Given the description of an element on the screen output the (x, y) to click on. 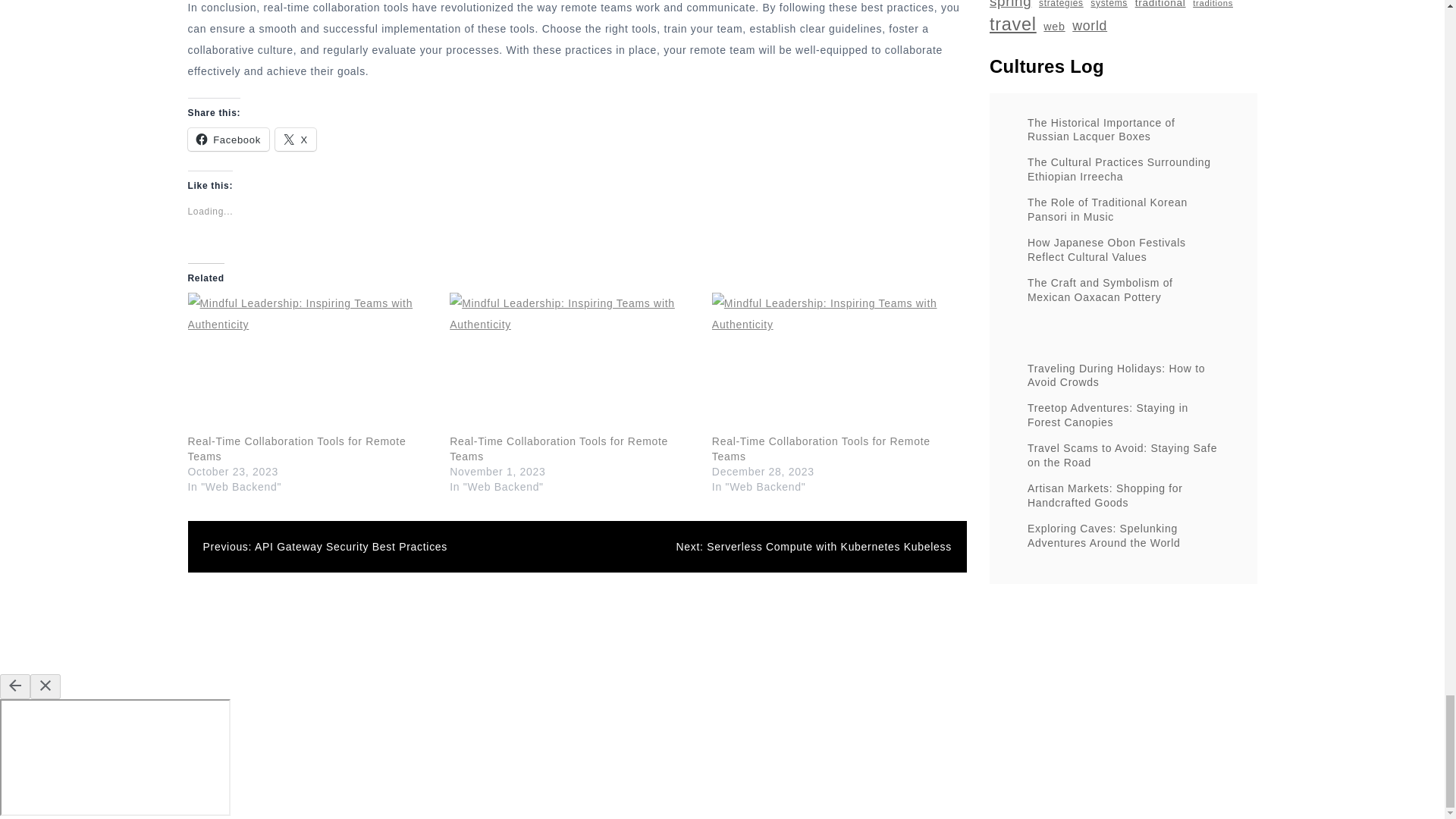
Real-Time Collaboration Tools for Remote Teams (558, 448)
Real-Time Collaboration Tools for Remote Teams (835, 363)
Click to share on Facebook (228, 138)
Real-Time Collaboration Tools for Remote Teams (311, 363)
Real-Time Collaboration Tools for Remote Teams (573, 363)
Real-Time Collaboration Tools for Remote Teams (820, 448)
Real-Time Collaboration Tools for Remote Teams (296, 448)
Click to share on X (295, 138)
